Given the description of an element on the screen output the (x, y) to click on. 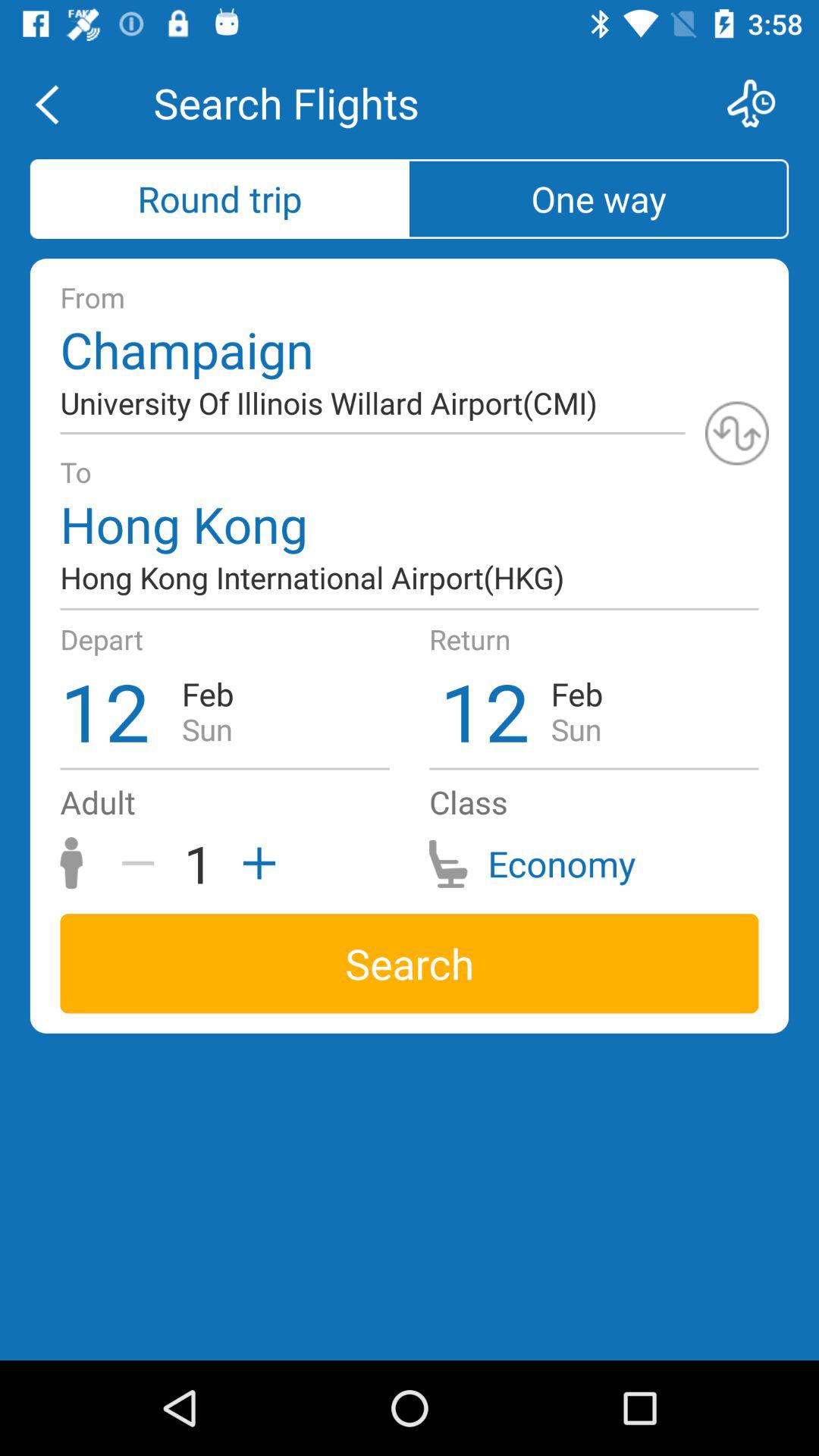
switch locations (736, 433)
